Given the description of an element on the screen output the (x, y) to click on. 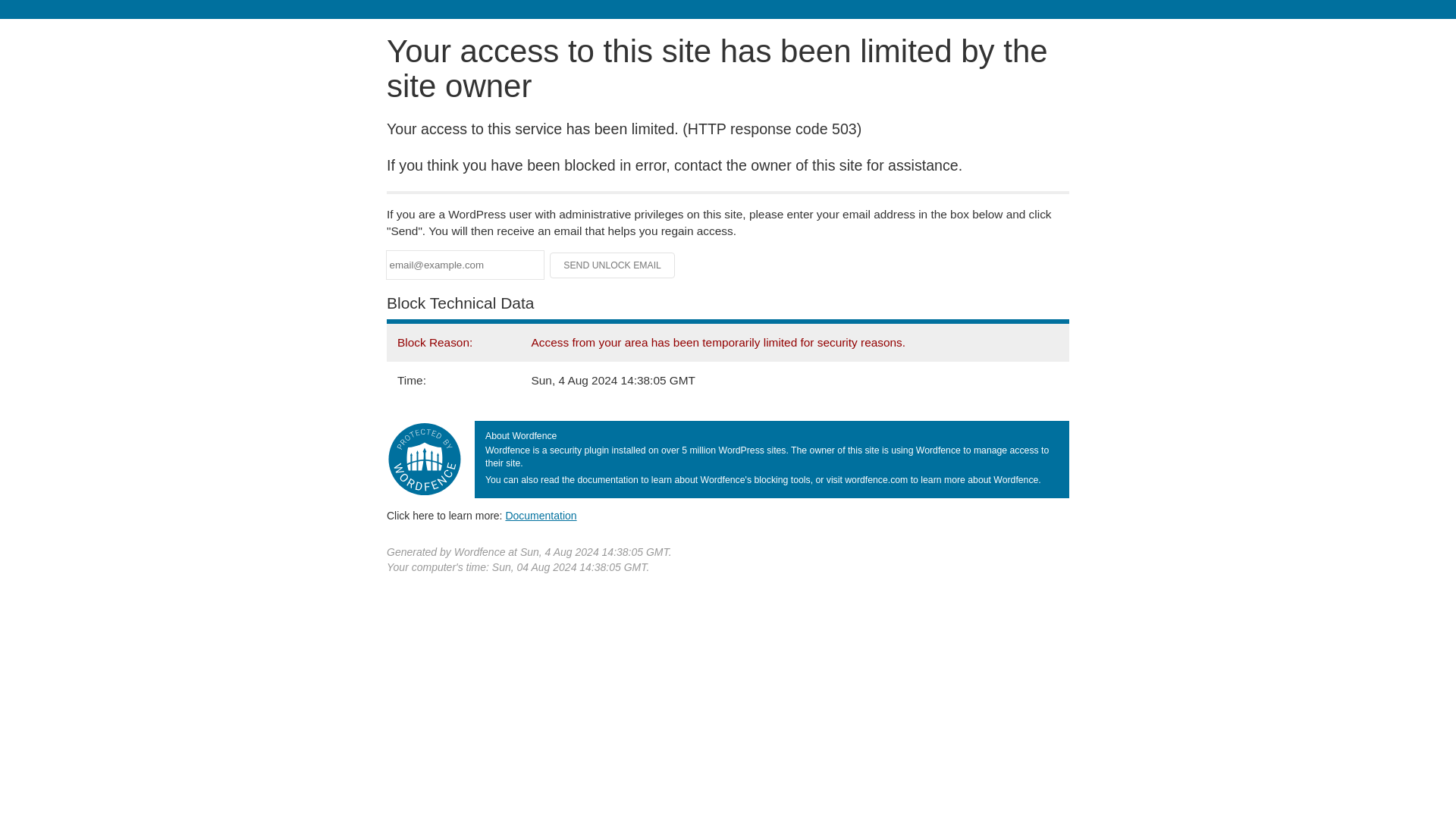
Send Unlock Email (612, 265)
Documentation (540, 515)
Send Unlock Email (612, 265)
